Given the description of an element on the screen output the (x, y) to click on. 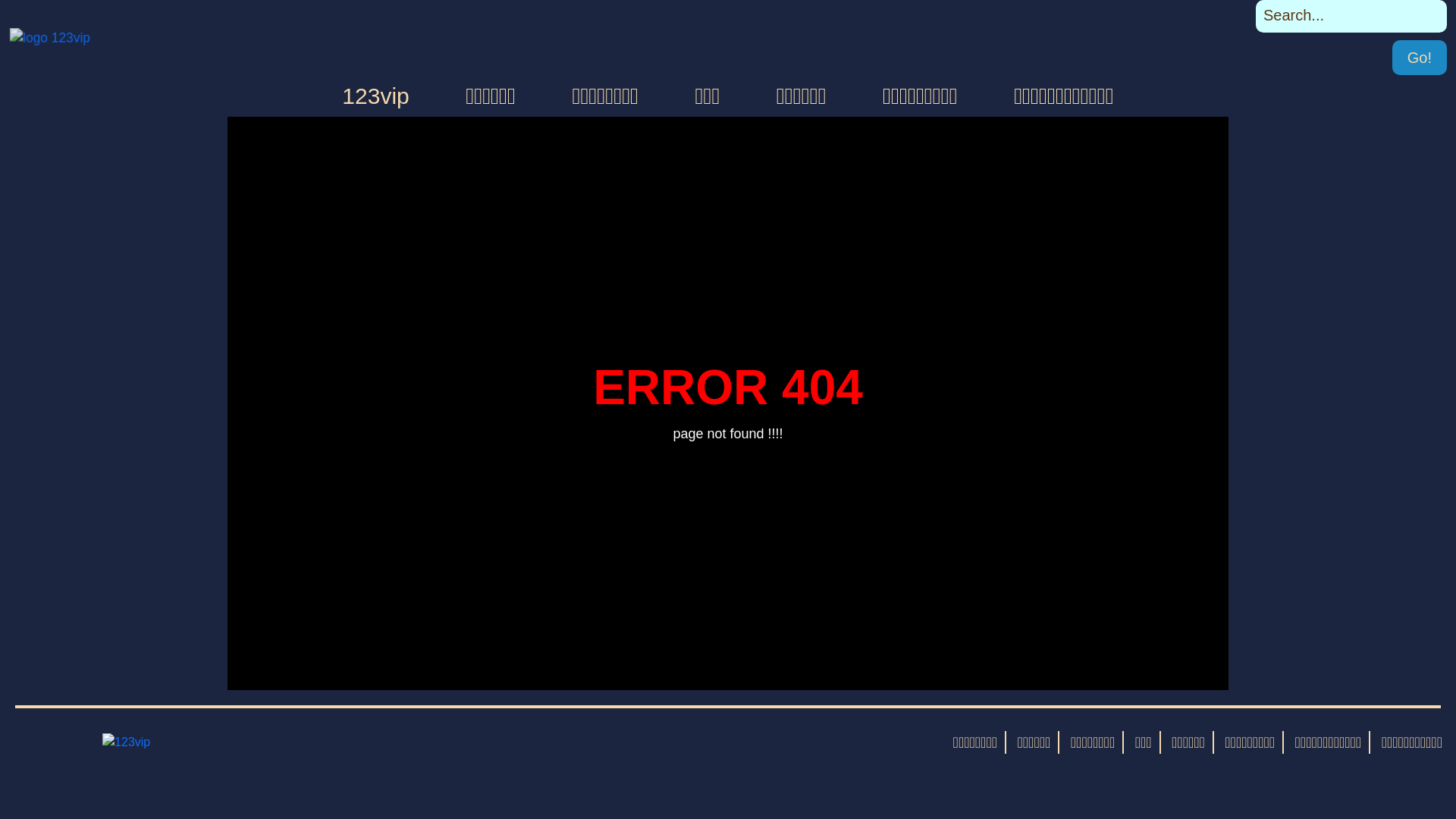
Go! Element type: text (1419, 57)
123vip Element type: text (375, 95)
